Given the description of an element on the screen output the (x, y) to click on. 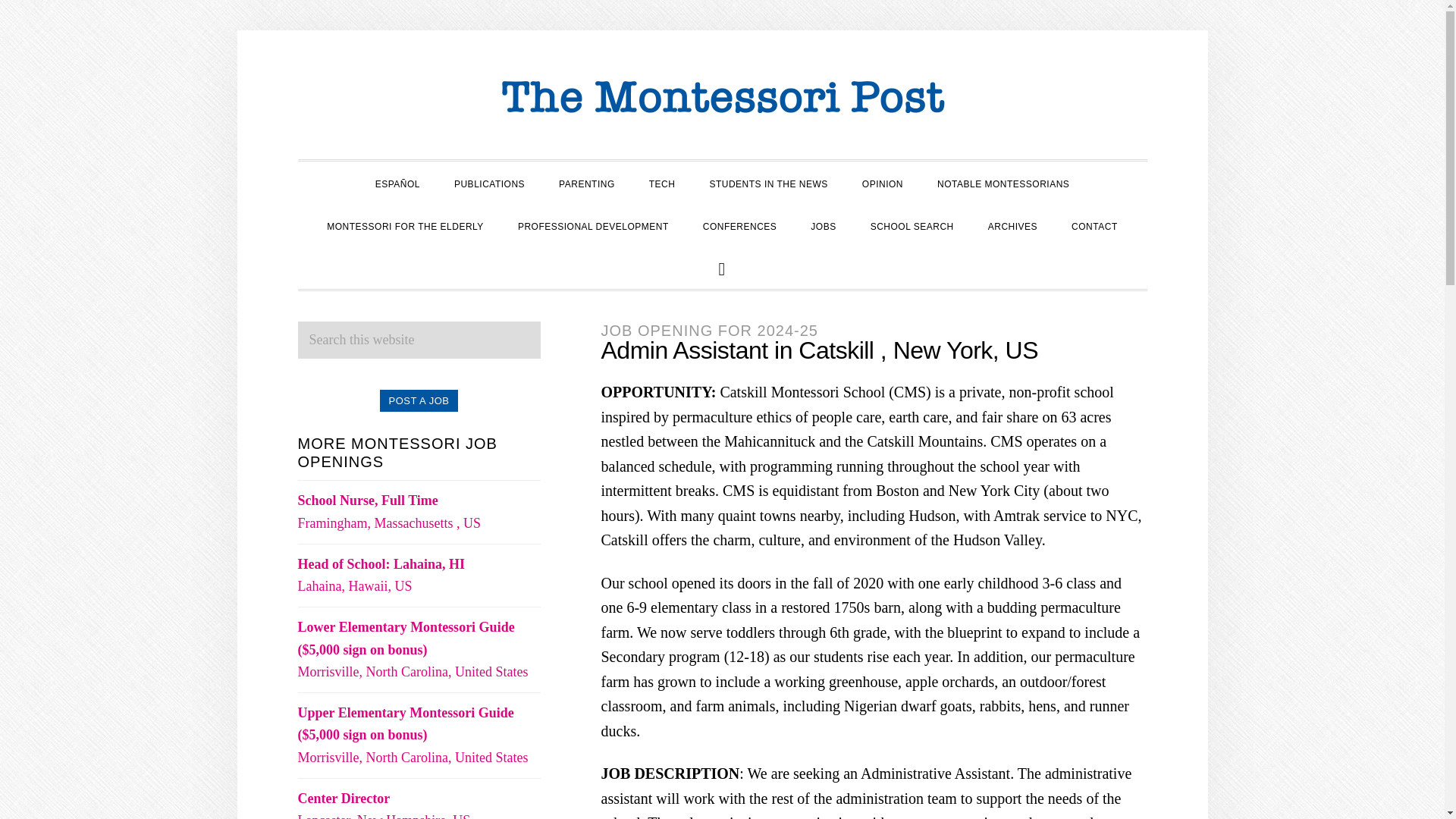
TECH (661, 182)
CONTACT (1094, 224)
JOBS (822, 224)
STUDENTS IN THE NEWS (768, 182)
ARCHIVES (1012, 224)
PARENTING (586, 182)
OPINION (882, 182)
THE MONTESSORI POST (722, 98)
